Given the description of an element on the screen output the (x, y) to click on. 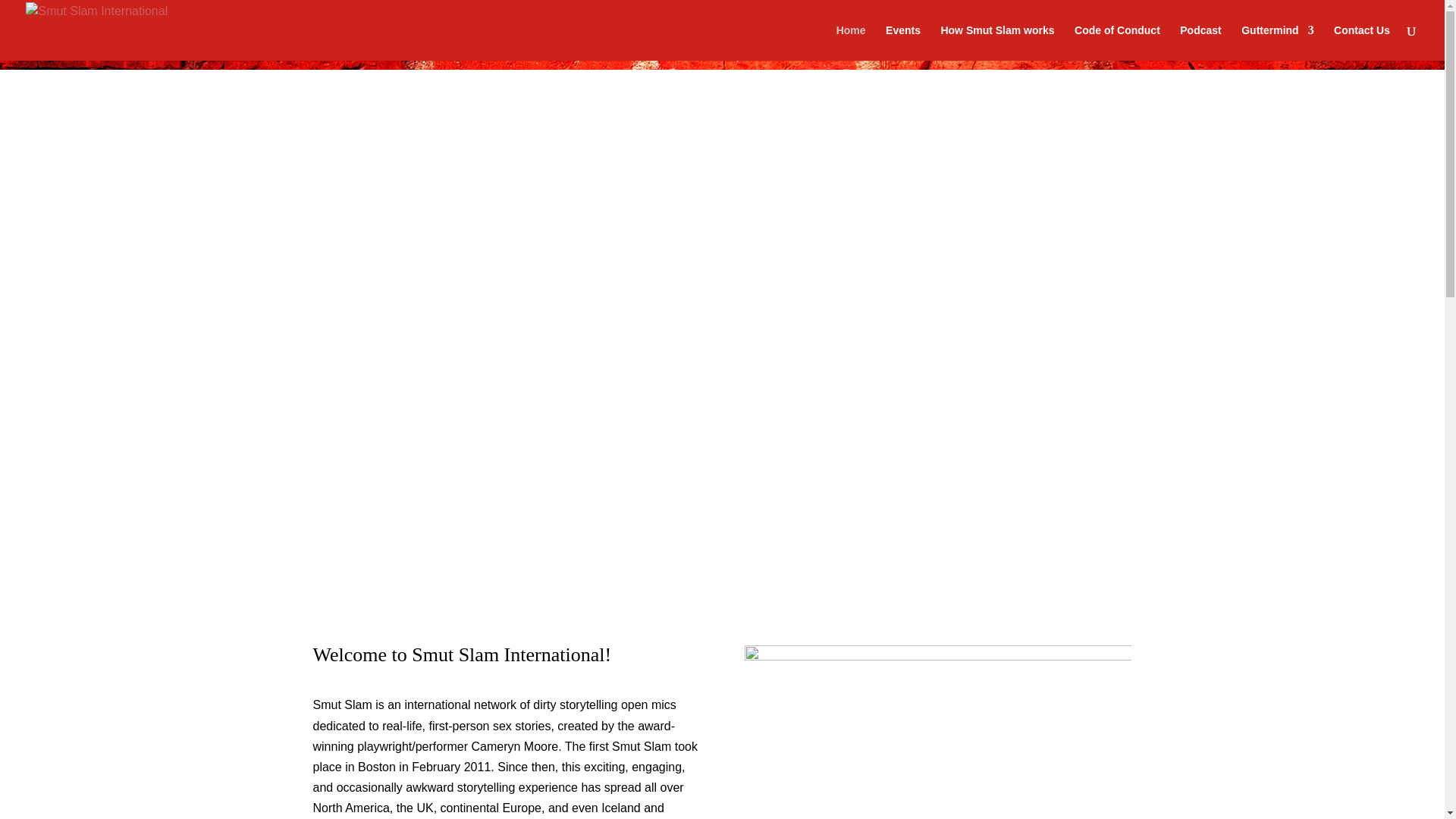
Contact Us (1361, 42)
Code of Conduct (1117, 42)
Guttermind (1277, 42)
Events (902, 42)
Podcast (1200, 42)
How Smut Slam works (997, 42)
